Given the description of an element on the screen output the (x, y) to click on. 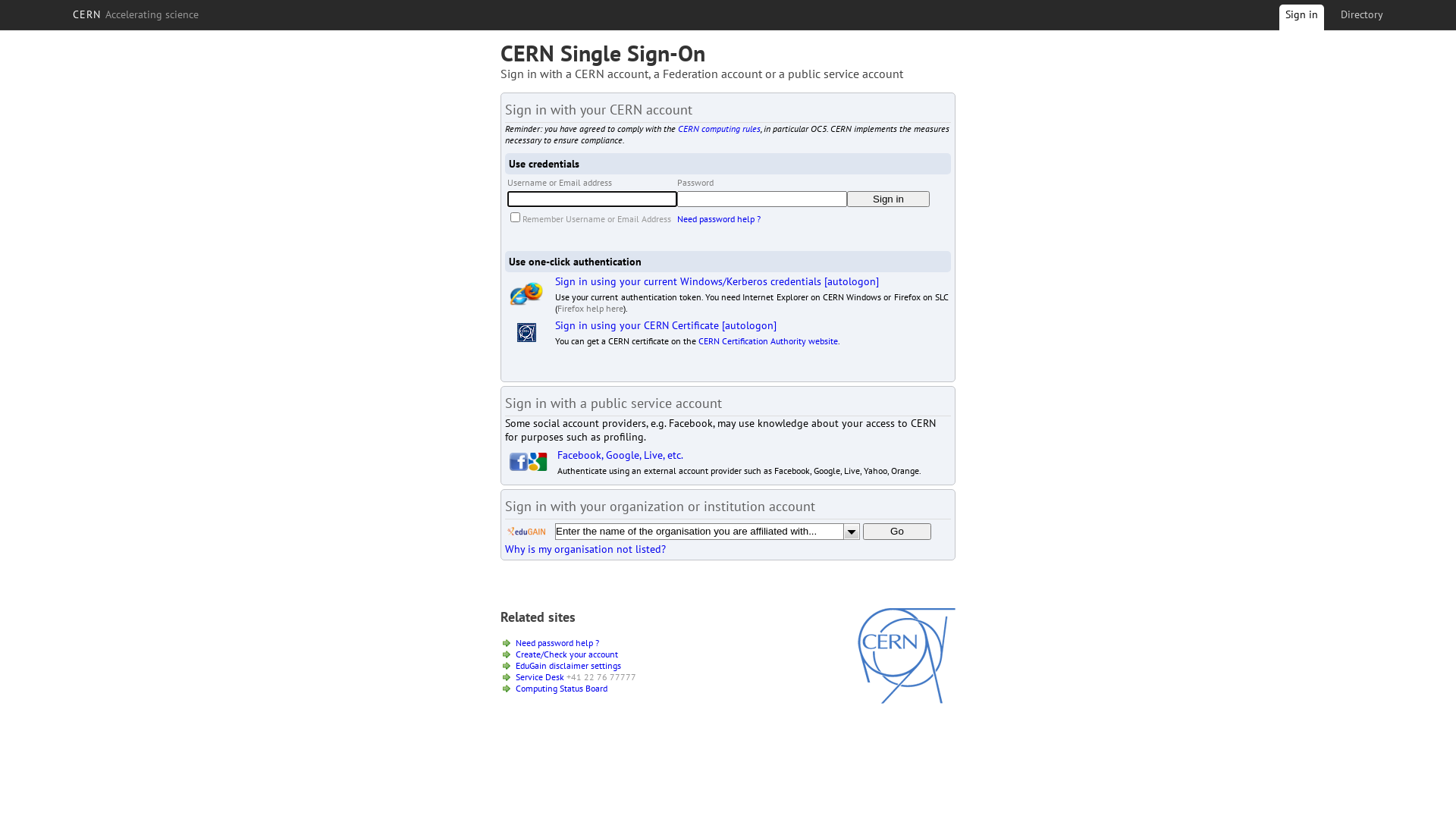
Enter your Username or Email Address Element type: hover (592, 199)
Sign in using your current Windows/Kerberos credentials Element type: text (688, 281)
EduGain disclaimer settings Element type: text (568, 665)
Facebook, Google, Live, etc. Element type: text (620, 454)
Sign in using your CERN Certificate Element type: text (636, 325)
Sign in Element type: text (1301, 19)
Why is my organisation not listed? Element type: text (585, 548)
Need password help ? Element type: text (718, 218)
CERN computing rules Element type: text (718, 128)
CERN Accelerating science Element type: text (135, 14)
CERN Single Sign-On Element type: text (602, 52)
Directory Element type: text (1361, 14)
Go Element type: text (896, 531)
[autologon] Element type: text (748, 325)
Sign in Element type: text (888, 199)
[autologon] Element type: text (851, 281)
Service Desk Element type: text (539, 676)
Computing Status Board Element type: text (561, 687)
Create/Check your account Element type: text (566, 653)
Need password help ? Element type: text (557, 642)
[show debug information] Element type: text (549, 565)
Firefox help here Element type: text (590, 307)
CERN Certification Authority website Element type: text (767, 340)
CERN Element type: hover (906, 699)
